Given the description of an element on the screen output the (x, y) to click on. 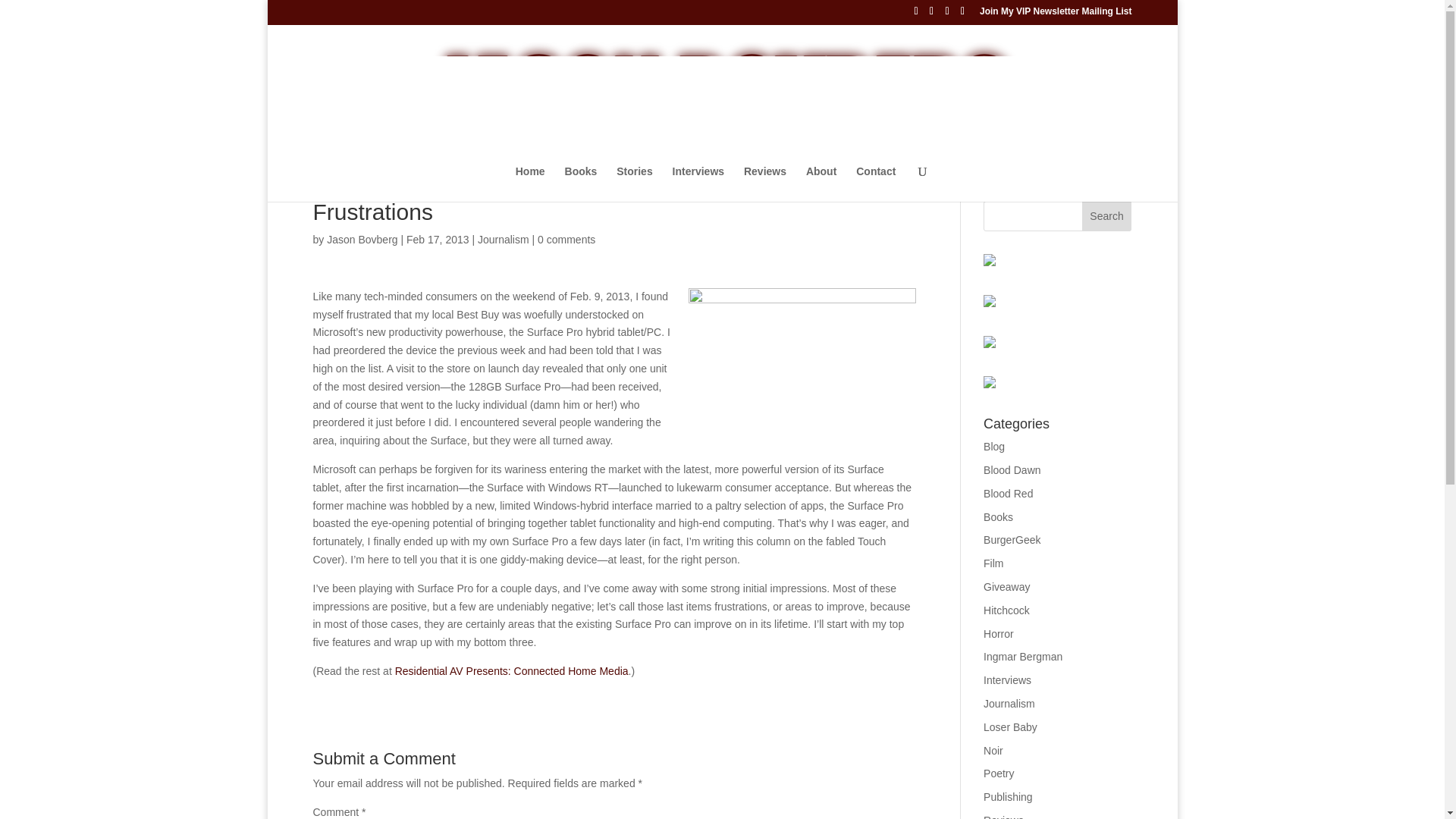
Blood Red (1008, 493)
Giveaway (1006, 586)
Ingmar Bergman (1023, 656)
Search (1106, 215)
Blood Dawn (1012, 469)
Journalism (503, 239)
Contact (875, 183)
Hitchcock (1006, 610)
Interviews (697, 183)
Film (993, 563)
Jason Bovberg (361, 239)
Books (998, 517)
Books (580, 183)
Stories (633, 183)
Join My VIP Newsletter Mailing List (1055, 14)
